Given the description of an element on the screen output the (x, y) to click on. 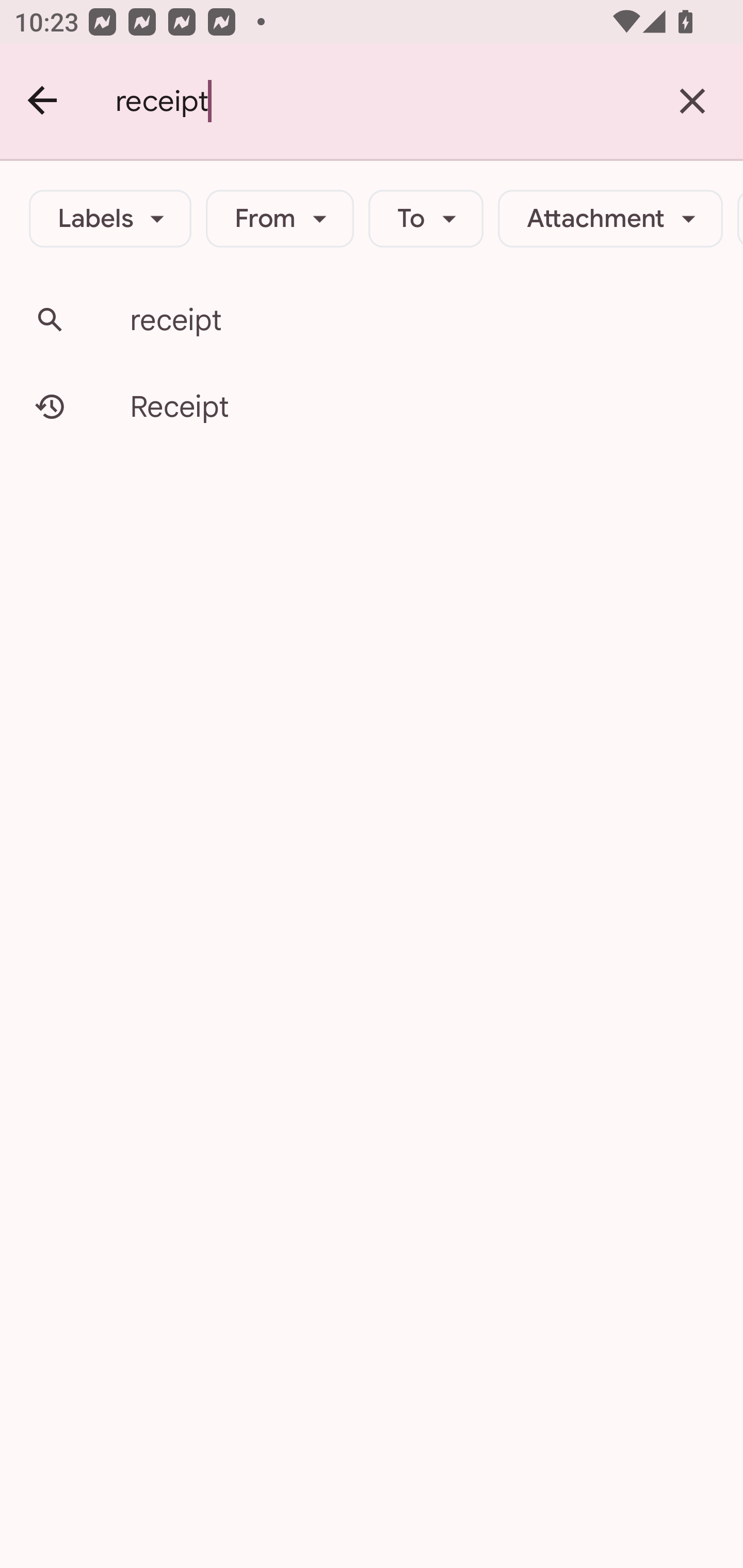
Back (43, 101)
receipt (378, 101)
Clear text (692, 101)
Labels (109, 218)
From (279, 218)
To (425, 218)
Attachment (609, 218)
receipt Suggestion: receipt (371, 319)
Receipt Suggestion: Receipt (371, 406)
